Given the description of an element on the screen output the (x, y) to click on. 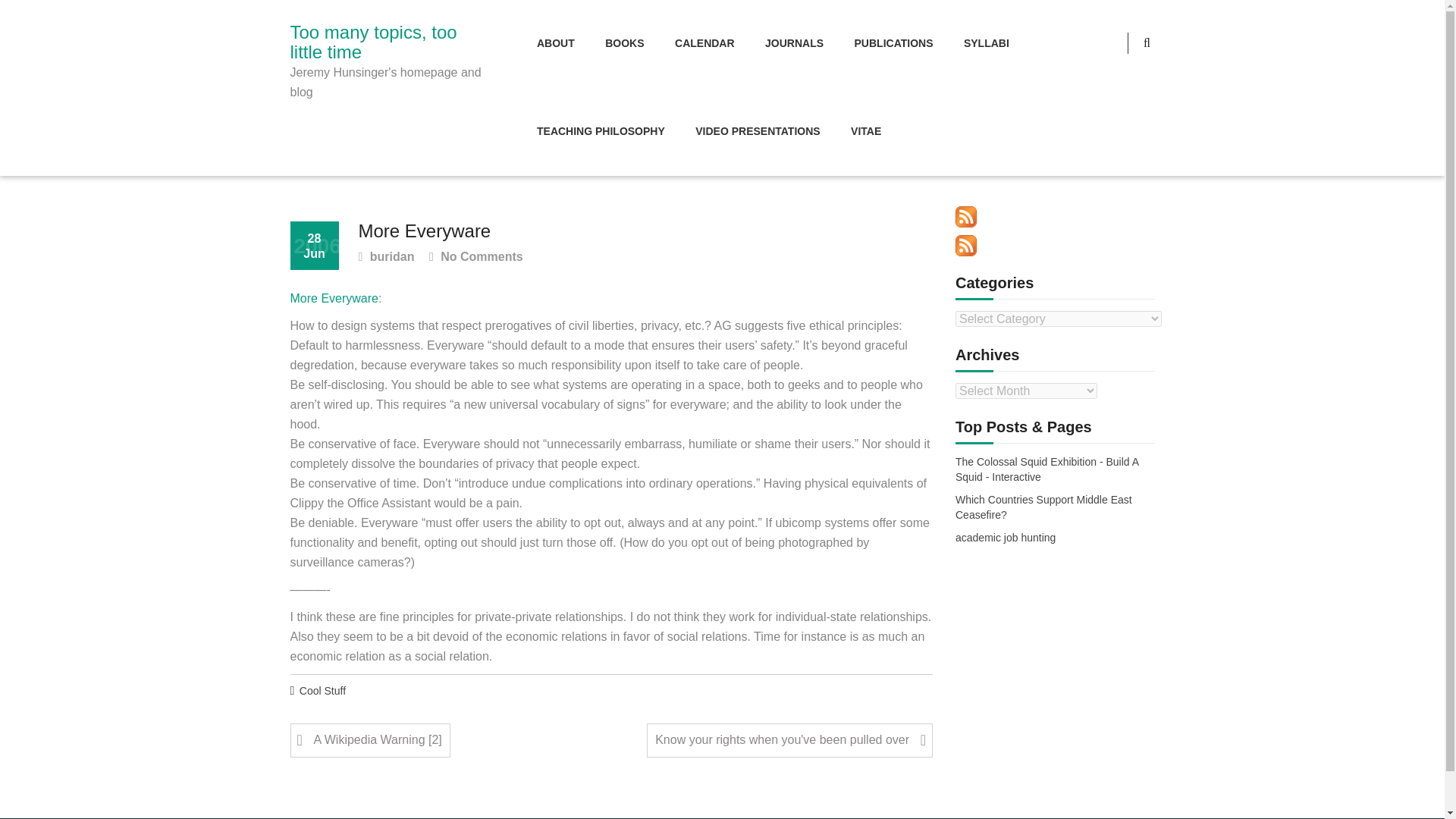
buridan (385, 257)
Know your rights when you've been pulled over (789, 740)
academic job hunting (1005, 538)
Too many topics, too little time (389, 42)
More Everyware (333, 298)
TEACHING PHILOSOPHY (600, 131)
PUBLICATIONS (894, 43)
JOURNALS (794, 43)
Which Countries Support Middle East Ceasefire? (1054, 508)
VIDEO PRESENTATIONS (756, 131)
Cool Stuff (322, 691)
Subscribe to posts (965, 216)
The Colossal Squid Exhibition - Build A Squid - Interactive (1054, 470)
No Comments (475, 257)
CALENDAR (704, 43)
